Given the description of an element on the screen output the (x, y) to click on. 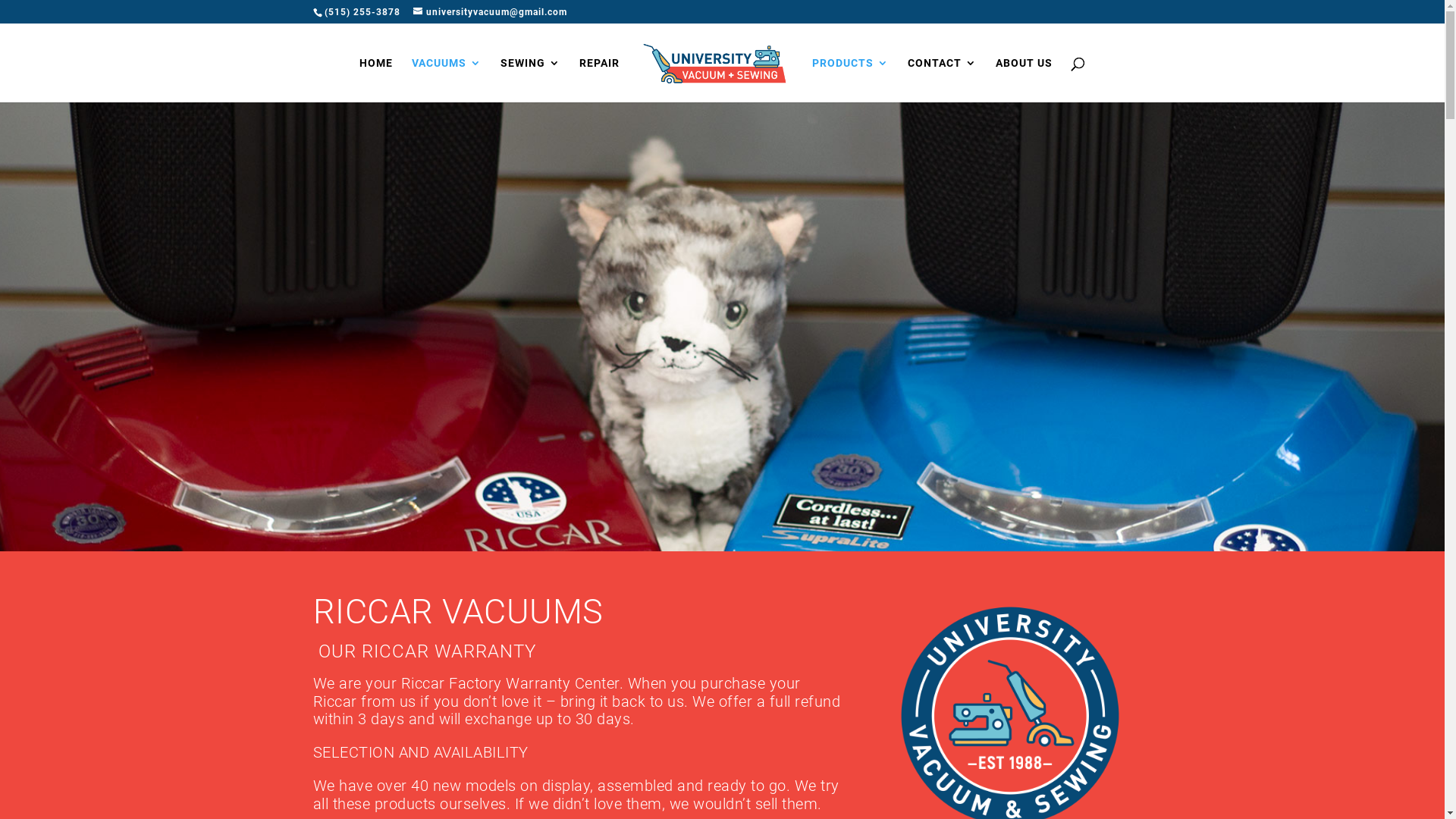
universityvacuum@gmail.com Element type: text (489, 11)
REPAIR Element type: text (599, 79)
VACUUMS Element type: text (446, 79)
HOME Element type: text (375, 79)
SEWING Element type: text (530, 79)
PRODUCTS Element type: text (850, 79)
CONTACT Element type: text (941, 79)
ABOUT US Element type: text (1023, 79)
